Given the description of an element on the screen output the (x, y) to click on. 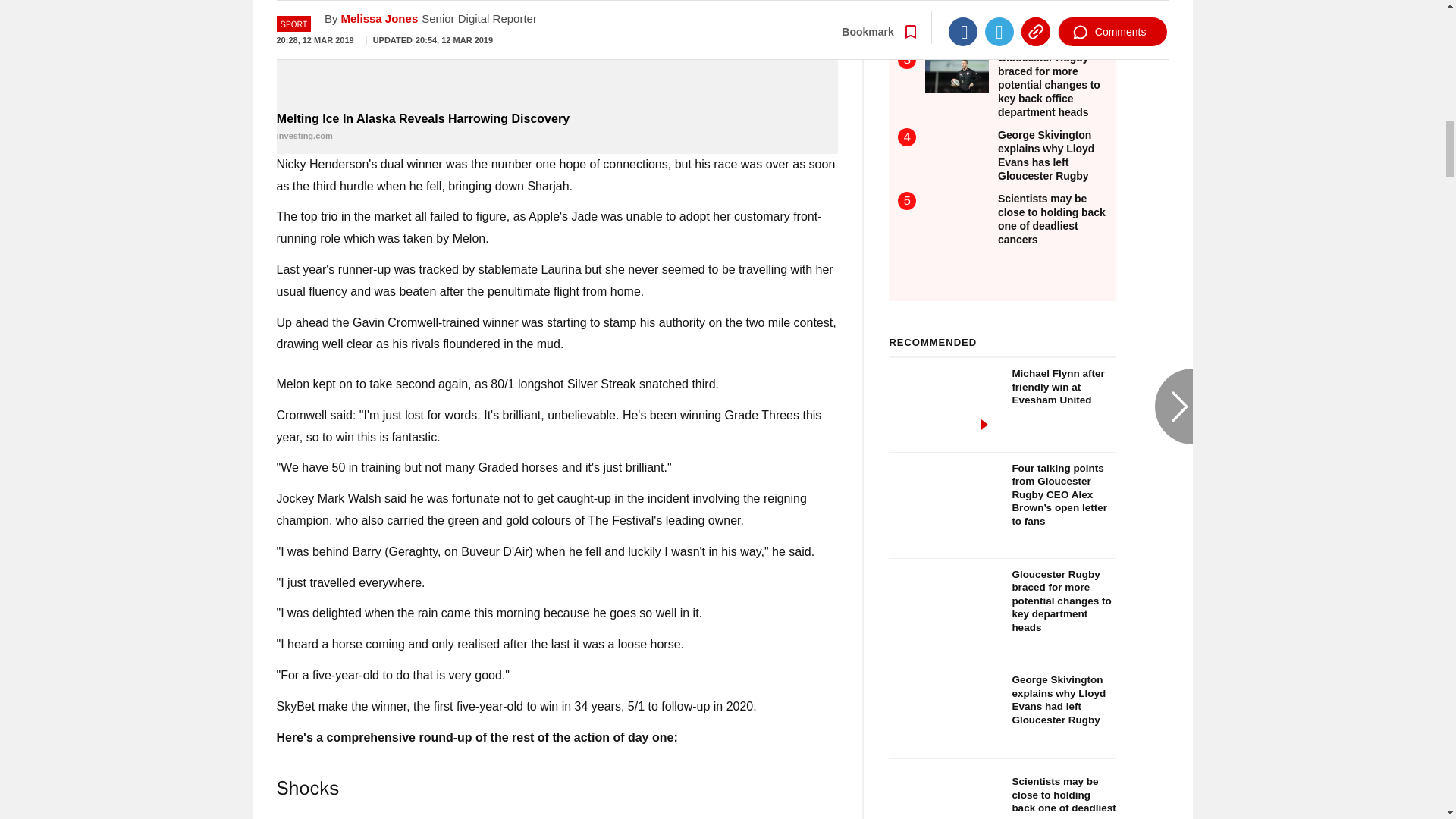
Melting Ice In Alaska Reveals Harrowing Discovery (557, 53)
